Given the description of an element on the screen output the (x, y) to click on. 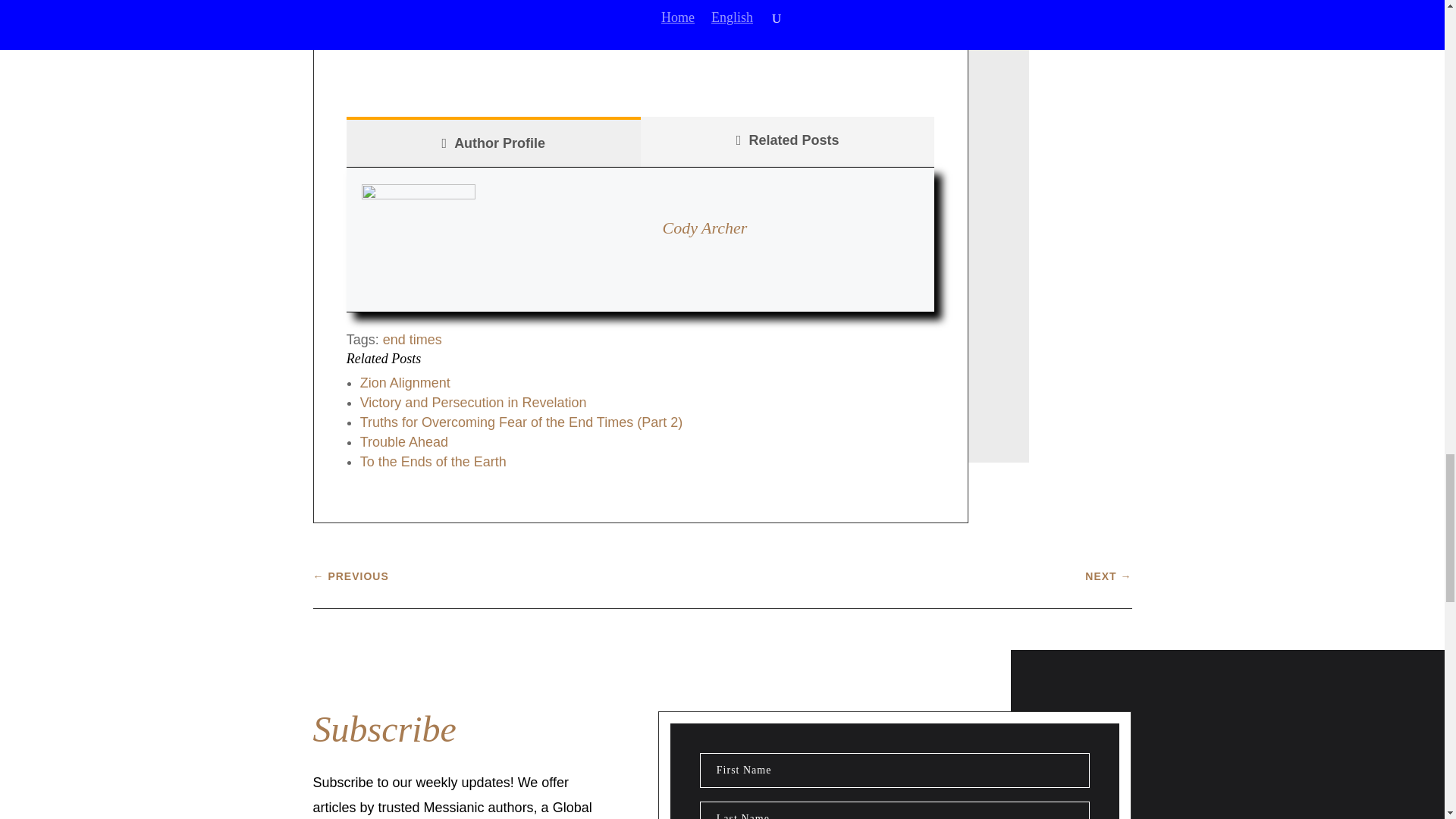
Victory and Persecution in Revelation (472, 402)
end times (412, 339)
Cody Archer (705, 227)
Zion Alignment (404, 382)
To the Ends of the Earth (432, 461)
end times (412, 339)
Trouble Ahead (403, 441)
